Given the description of an element on the screen output the (x, y) to click on. 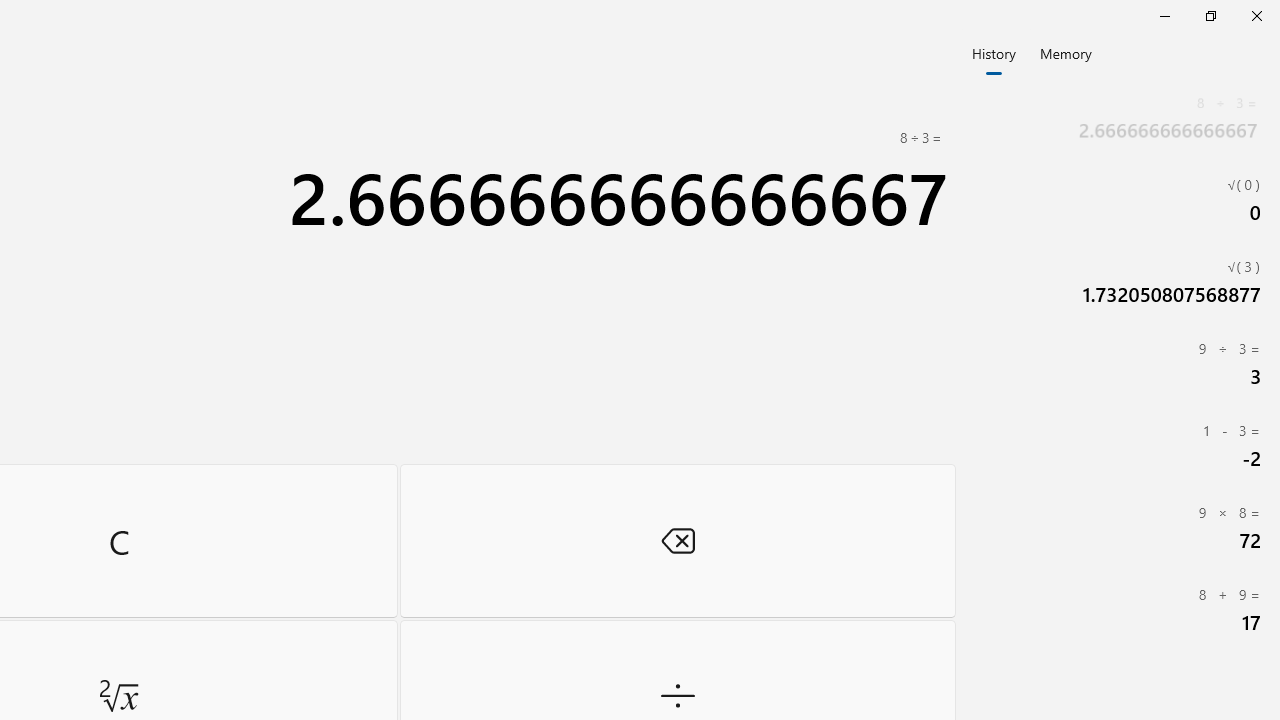
Minimize Calculator (1164, 15)
1 Minus ( 3= Minus (2 (1119, 445)
History (993, 52)
Backspace (677, 540)
Close Calculator (1256, 15)
8 + 9= 17 (1119, 609)
Restore Calculator (1210, 15)
